Given the description of an element on the screen output the (x, y) to click on. 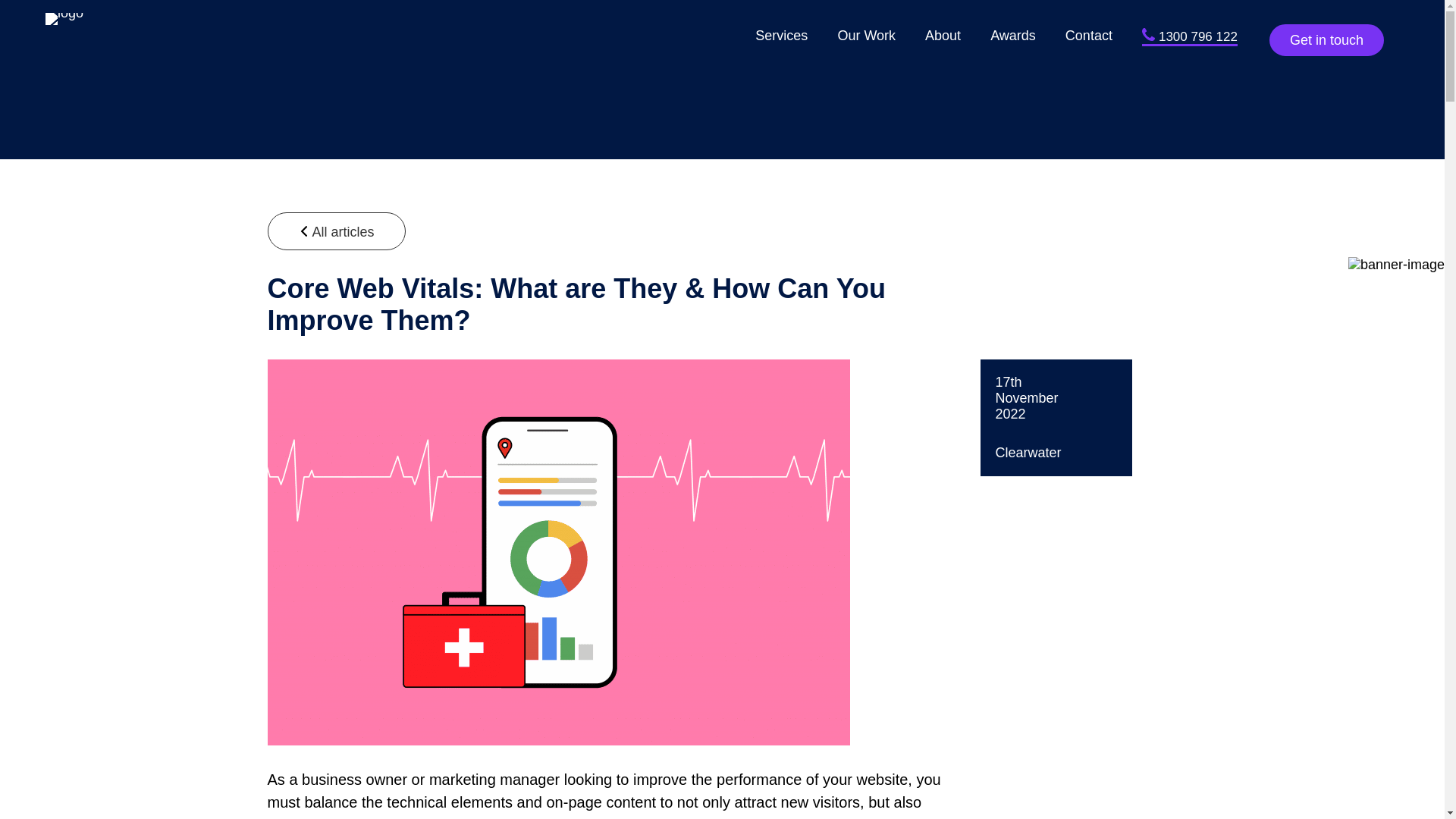
Services (781, 35)
About (942, 35)
Awards (1012, 35)
Get in touch (1326, 40)
Contact (1088, 35)
Our Work (866, 35)
All articles (335, 231)
1300 796 122 (1189, 37)
